Given the description of an element on the screen output the (x, y) to click on. 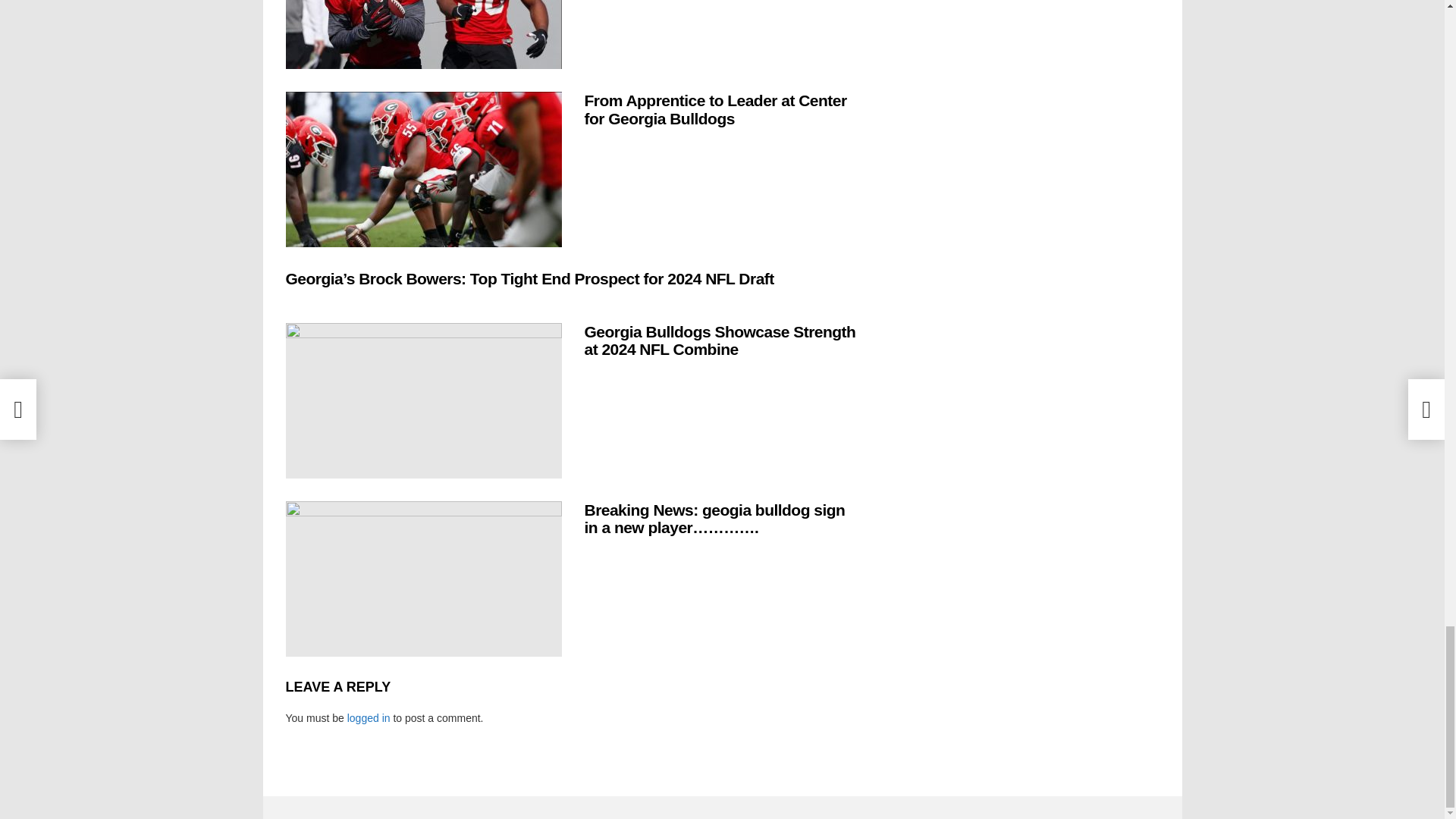
From Apprentice to Leader at Center for Georgia Bulldogs (422, 169)
Georgia Bulldogs Showcase Strength at 2024 NFL Combine (422, 400)
